Given the description of an element on the screen output the (x, y) to click on. 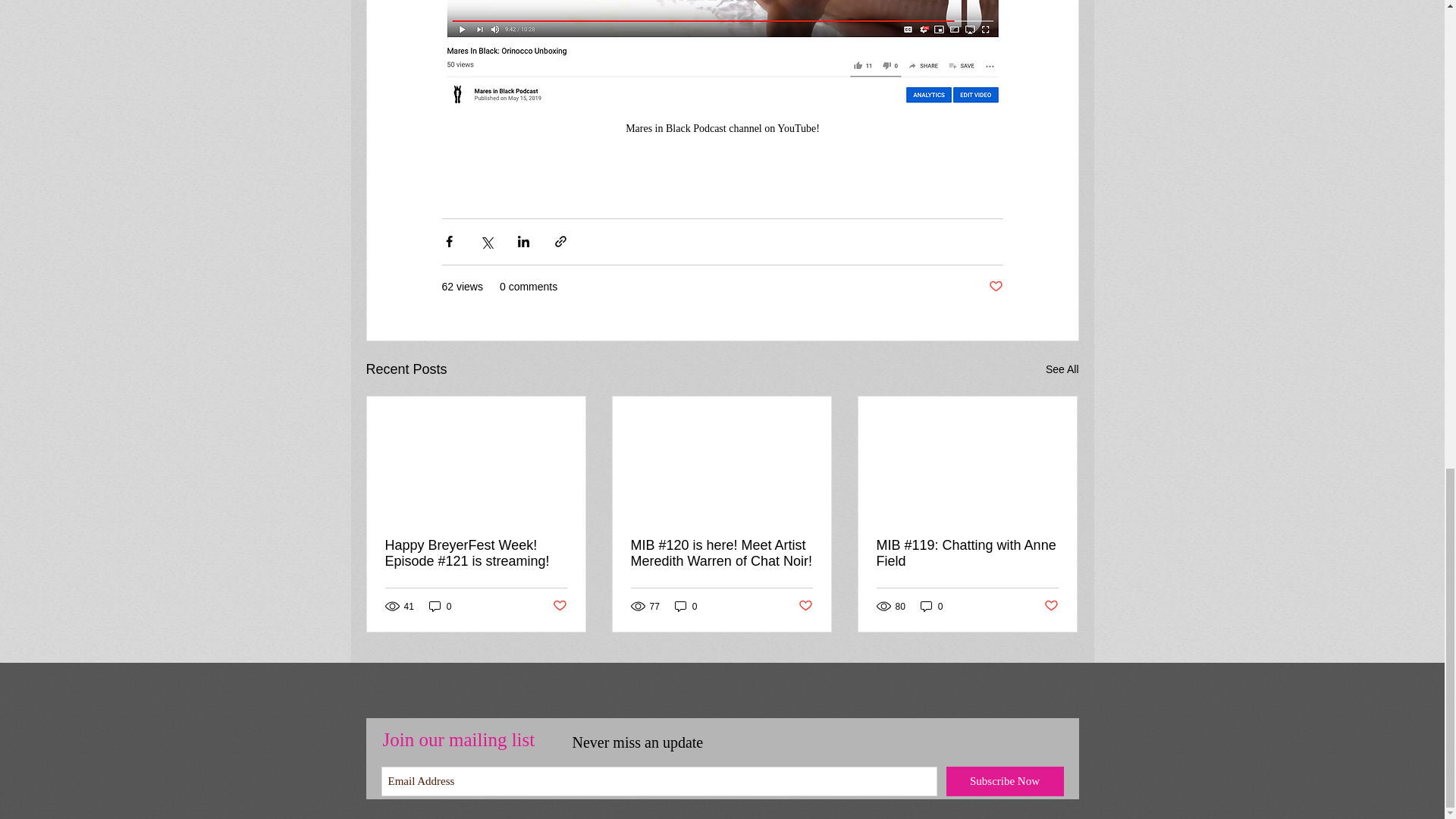
See All (1061, 369)
Post not marked as liked (995, 286)
Post not marked as liked (1050, 606)
Post not marked as liked (804, 606)
0 (685, 605)
Post not marked as liked (558, 606)
0 (440, 605)
Subscribe Now (1005, 781)
Mares in Black Podcast channel on YouTube! (722, 74)
0 (931, 605)
